Given the description of an element on the screen output the (x, y) to click on. 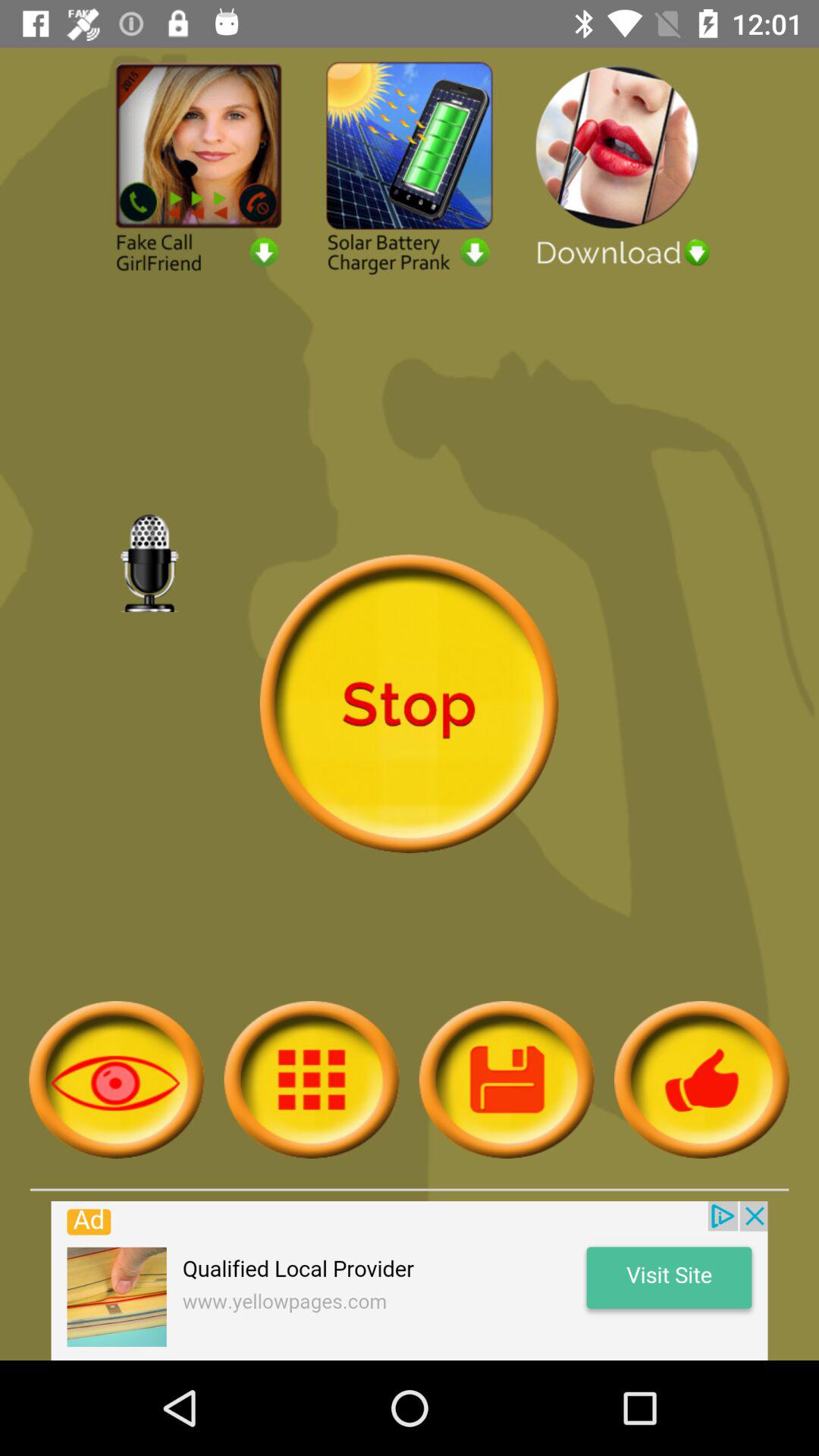
go to advertisement site (409, 1280)
